Given the description of an element on the screen output the (x, y) to click on. 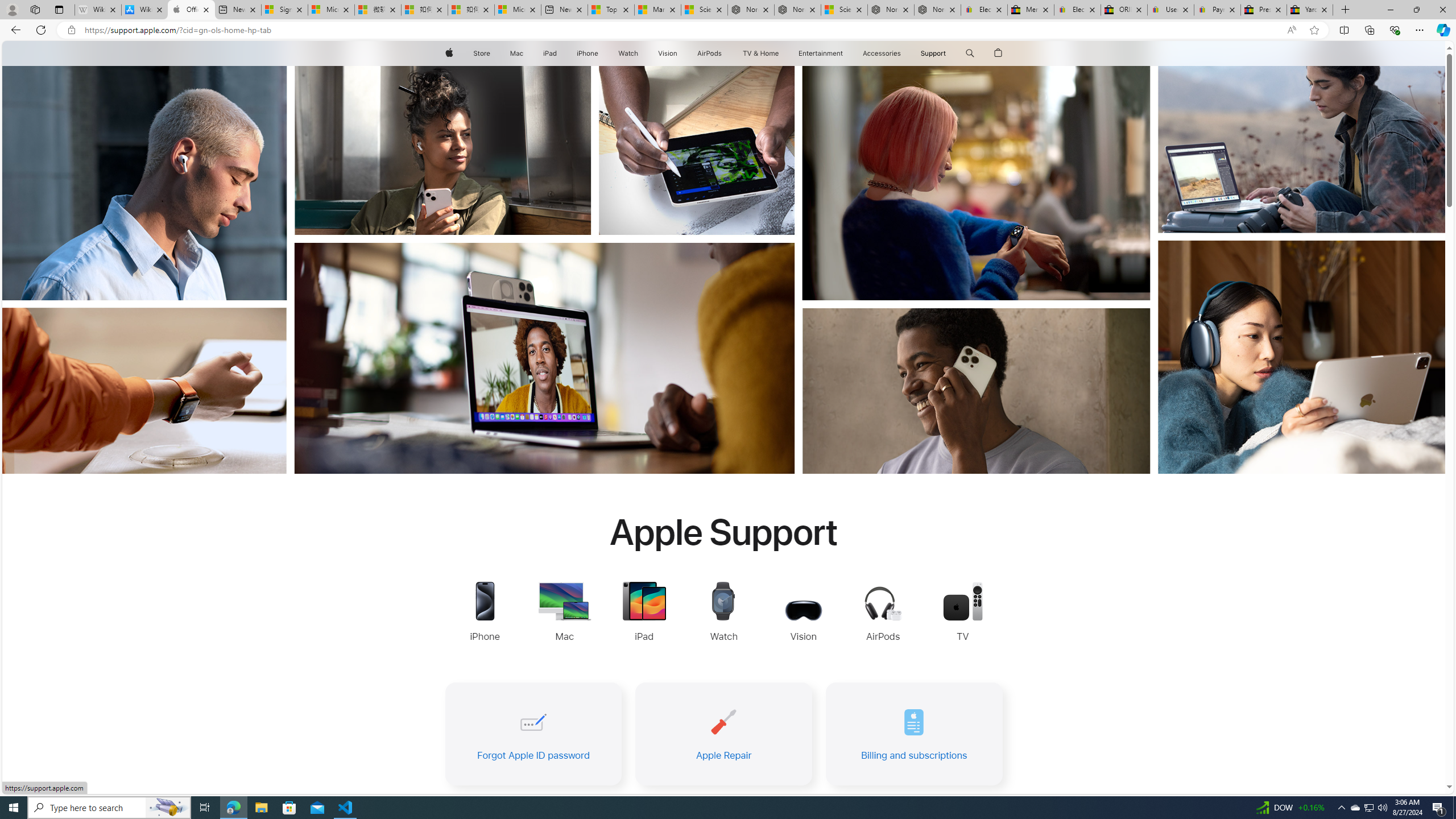
AutomationID: globalnav-bag (998, 53)
Mac (516, 53)
Search Support (969, 53)
Apple (448, 53)
Official Apple Support (191, 9)
Apple Vision Pro Support (802, 612)
